Given the description of an element on the screen output the (x, y) to click on. 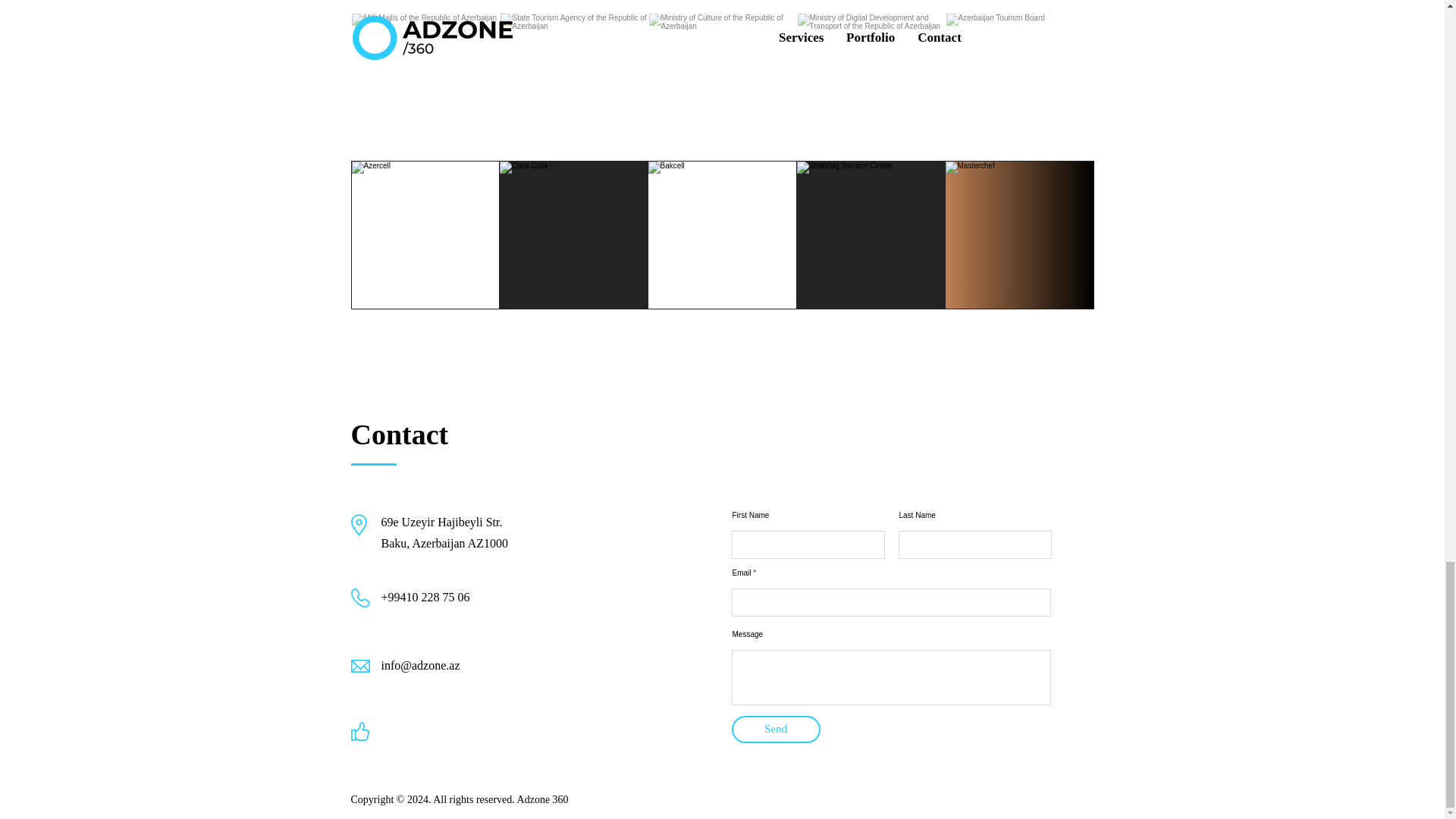
Send (774, 728)
